Given the description of an element on the screen output the (x, y) to click on. 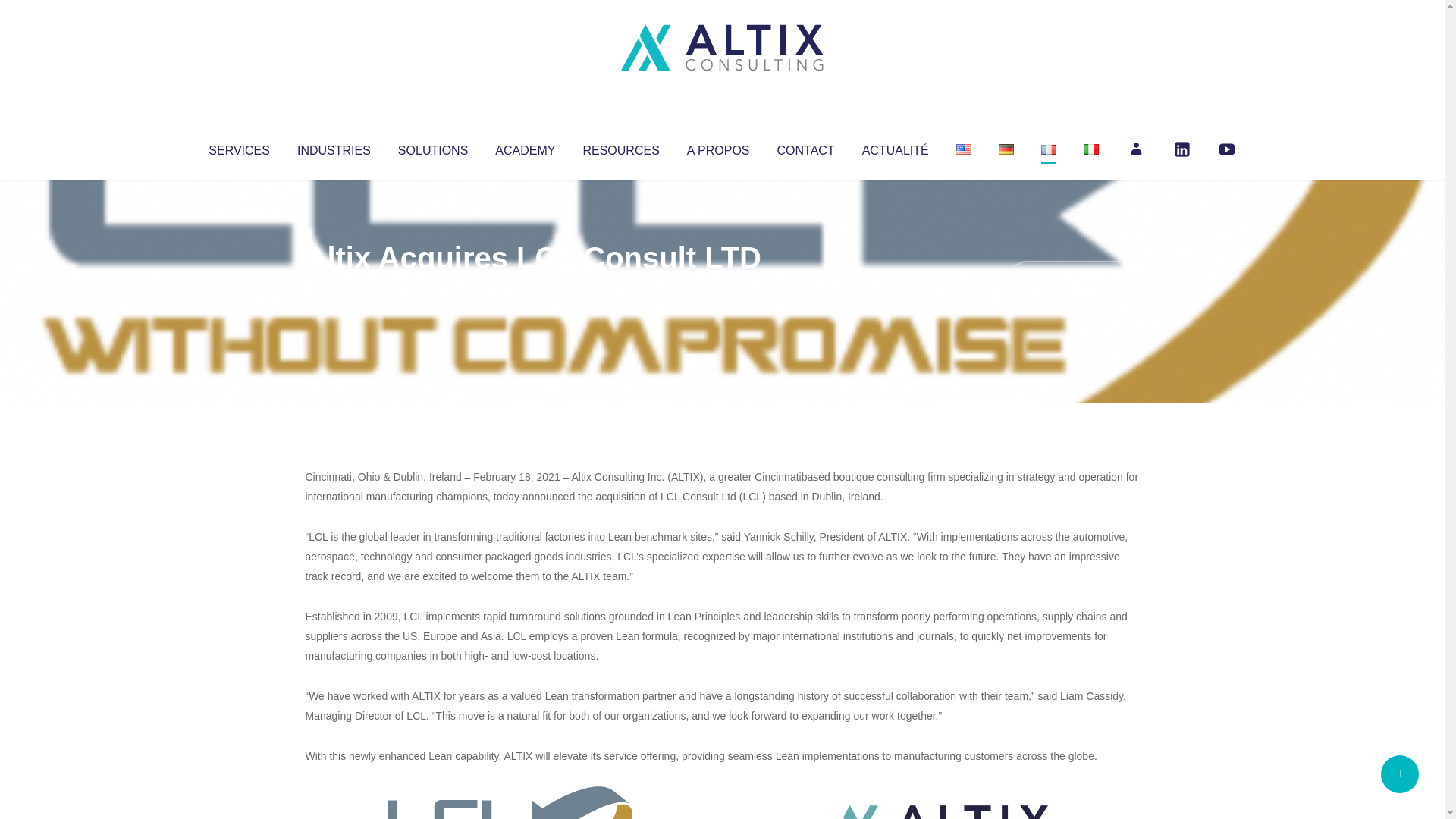
RESOURCES (620, 146)
No Comments (1073, 278)
Uncategorized (530, 287)
ACADEMY (524, 146)
Altix (333, 287)
SERVICES (238, 146)
INDUSTRIES (334, 146)
SOLUTIONS (432, 146)
Articles par Altix (333, 287)
A PROPOS (718, 146)
